Given the description of an element on the screen output the (x, y) to click on. 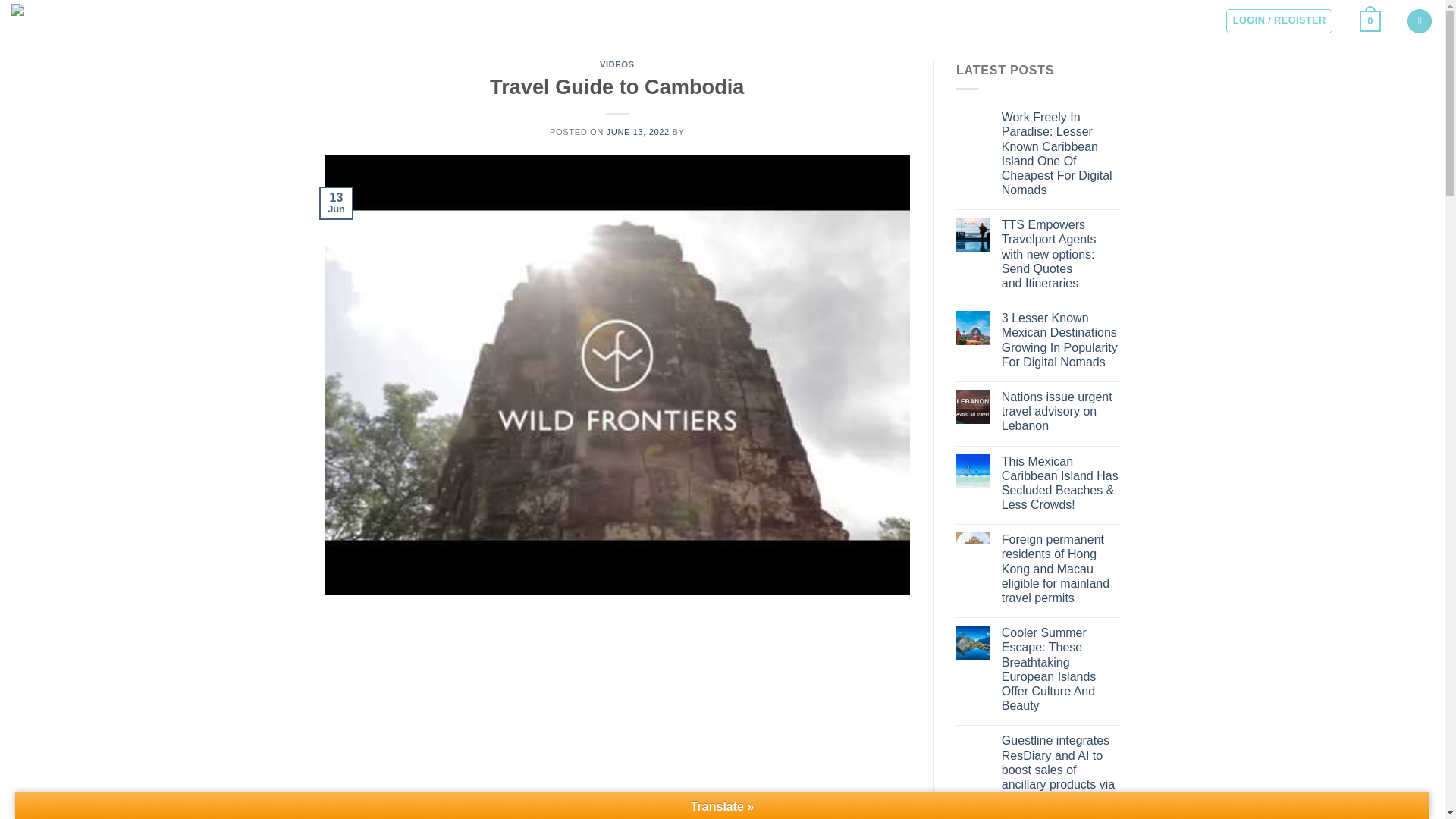
FLIGHTS (250, 18)
Bookio.eu - Get Deals on flights and hotels (87, 19)
JUNE 13, 2022 (638, 131)
TRAVEL SHOP (425, 18)
BLOG (488, 18)
HOTELS (305, 18)
VIDEOS (616, 63)
MORE (358, 18)
HOME (200, 18)
